Given the description of an element on the screen output the (x, y) to click on. 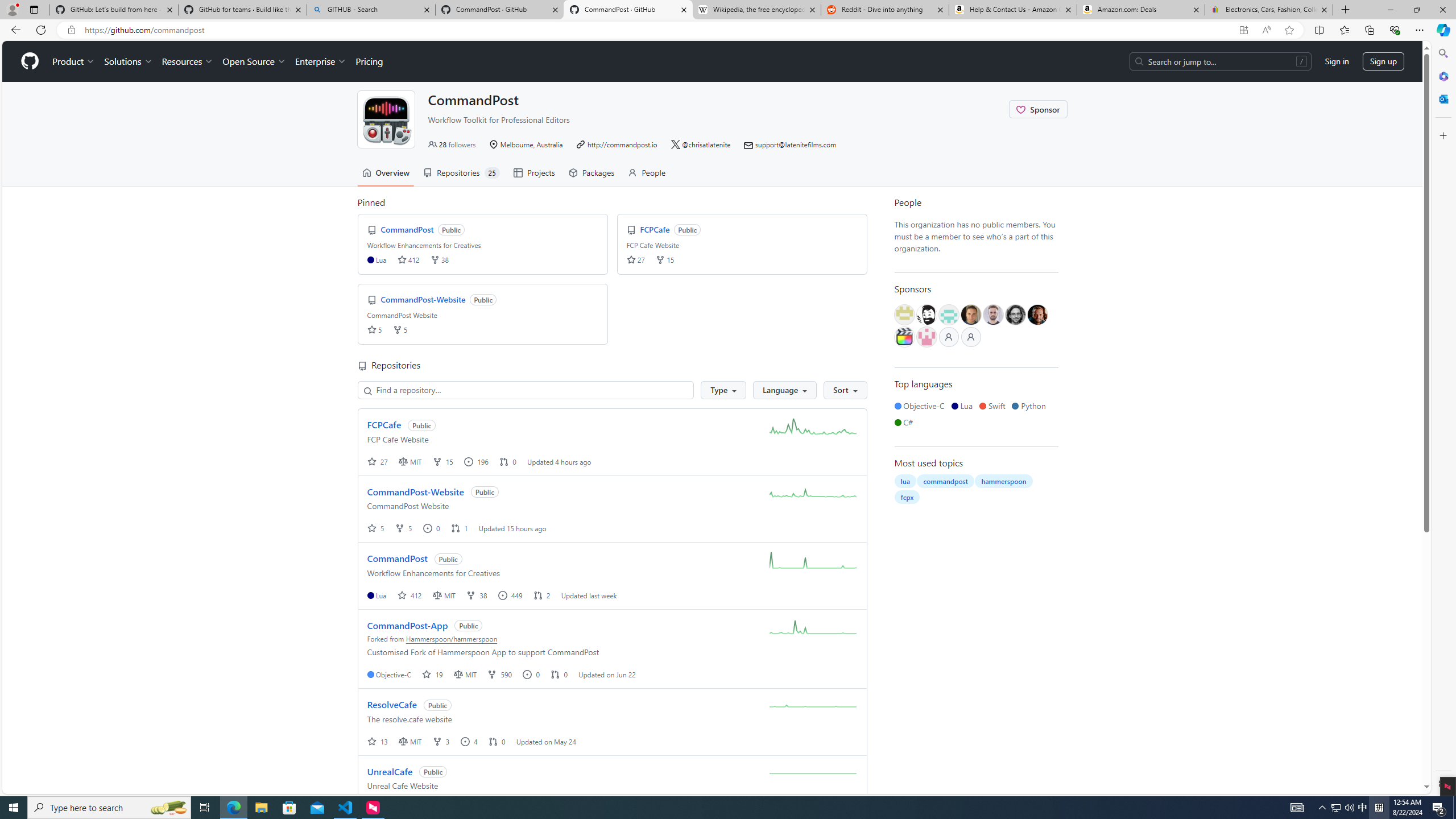
support@latenitefilms.com (790, 144)
Help & Contact Us - Amazon Customer Service (1012, 9)
support@latenitefilms.com (795, 144)
@elzotto (903, 336)
C# (905, 422)
@chrisatlatenite (705, 144)
Resources (187, 60)
Hammerspoon/hammerspoon (451, 637)
Lua (963, 405)
Product (74, 60)
Open Source (254, 60)
Overview (385, 172)
